Given the description of an element on the screen output the (x, y) to click on. 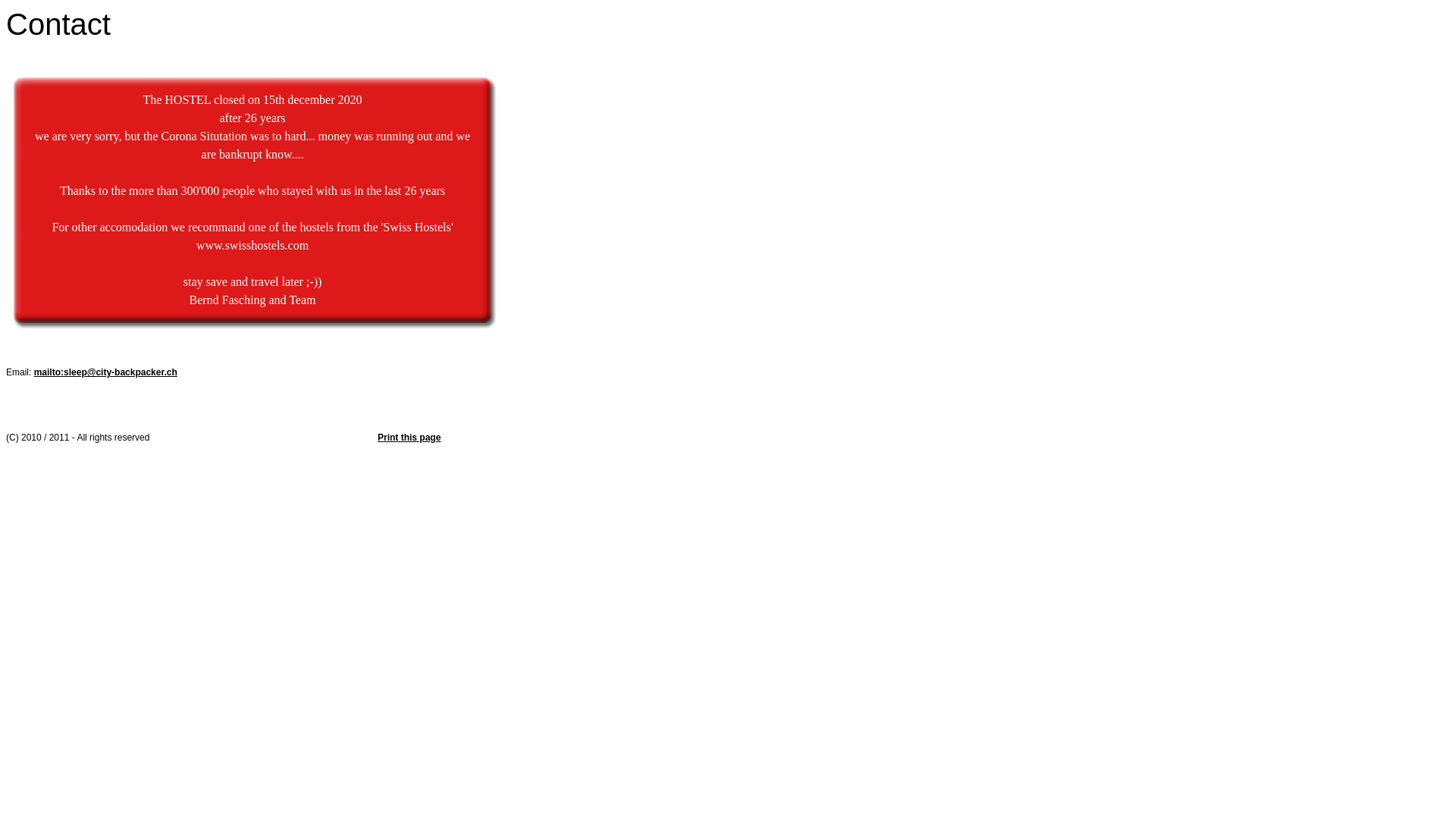
Print this page Element type: text (408, 437)
